Given the description of an element on the screen output the (x, y) to click on. 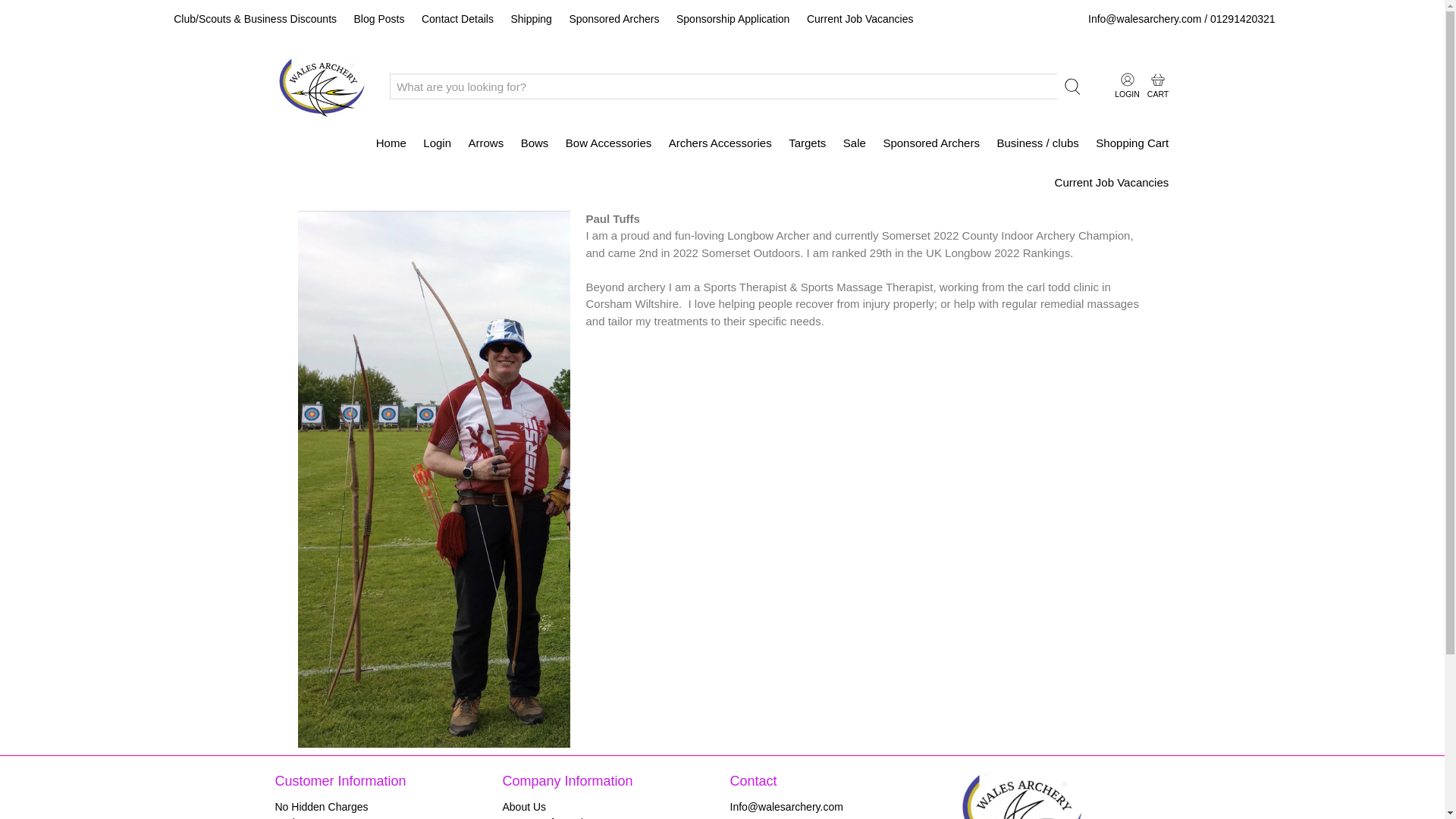
tel:01291 420321 (763, 817)
Sale (854, 143)
Bows (534, 143)
Contact Details (457, 19)
Login (437, 143)
Blog Posts (378, 19)
Targets (807, 143)
Current Job Vacancies (859, 19)
Shopping Cart (1131, 143)
Arrows (486, 143)
Shipping (531, 19)
Wales Archery (1020, 795)
Wales Archery (321, 86)
Home (391, 143)
Sponsored Archers (614, 19)
